Given the description of an element on the screen output the (x, y) to click on. 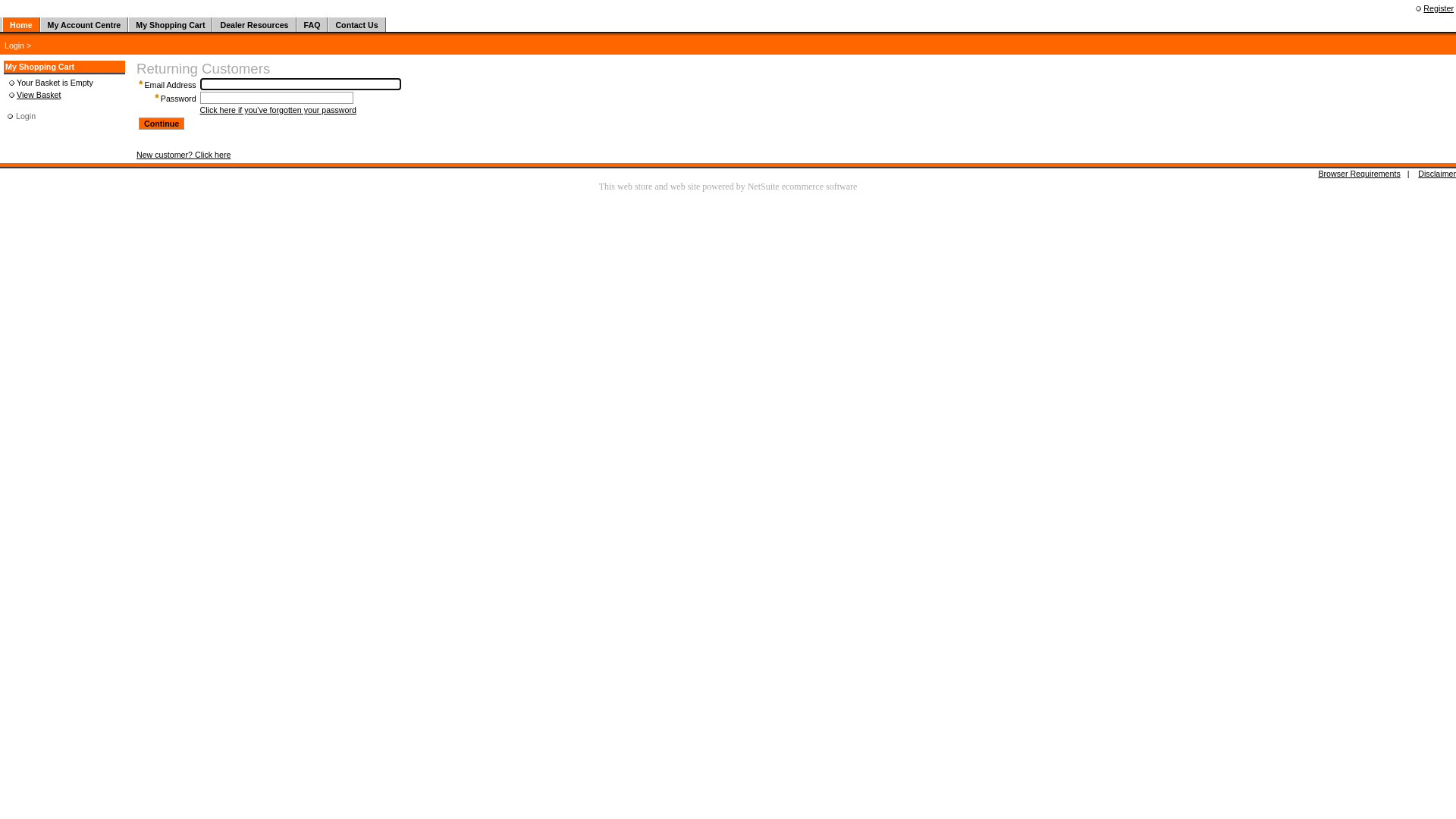
Click here if you've forgotten your password Element type: text (278, 109)
View Basket Element type: text (38, 94)
FAQ Element type: text (312, 23)
Contact Us Element type: text (356, 23)
Browser Requirements Element type: text (1358, 173)
  Element type: text (1, 23)
Dealer Resources Element type: text (253, 23)
ecommerce software Element type: text (819, 186)
My Shopping Cart Element type: text (169, 23)
My Account Centre Element type: text (84, 23)
Continue Element type: text (161, 123)
My Shopping Cart Element type: text (39, 66)
Password Element type: text (178, 98)
web site Element type: text (685, 186)
Email Address Element type: text (169, 84)
New customer? Click here Element type: text (183, 154)
NetSuite Element type: text (763, 186)
Home Element type: text (20, 23)
Register Element type: text (1438, 7)
web store Element type: text (634, 186)
